Given the description of an element on the screen output the (x, y) to click on. 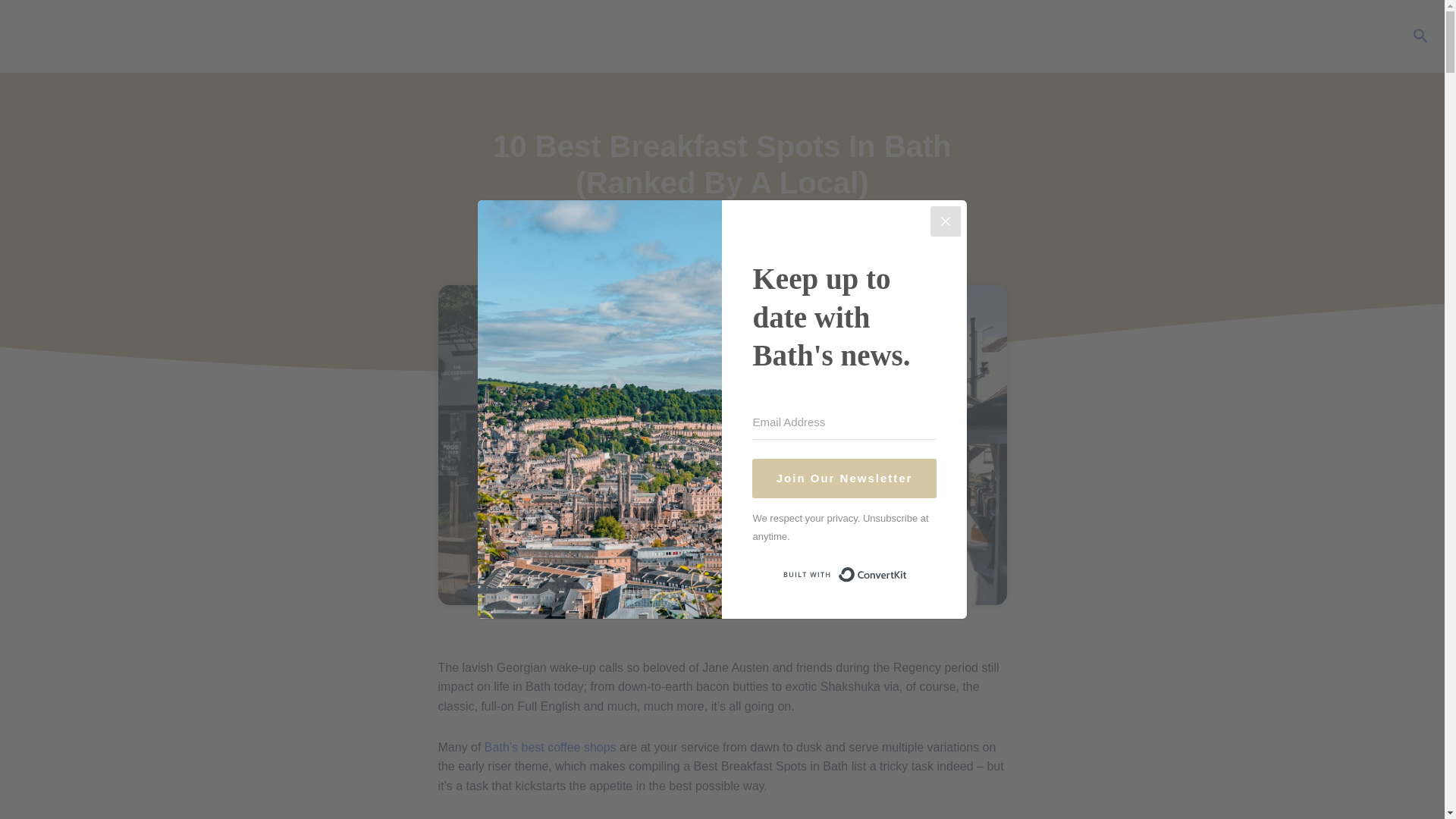
Experiences (750, 36)
Written By Melissa Blease (721, 230)
